Given the description of an element on the screen output the (x, y) to click on. 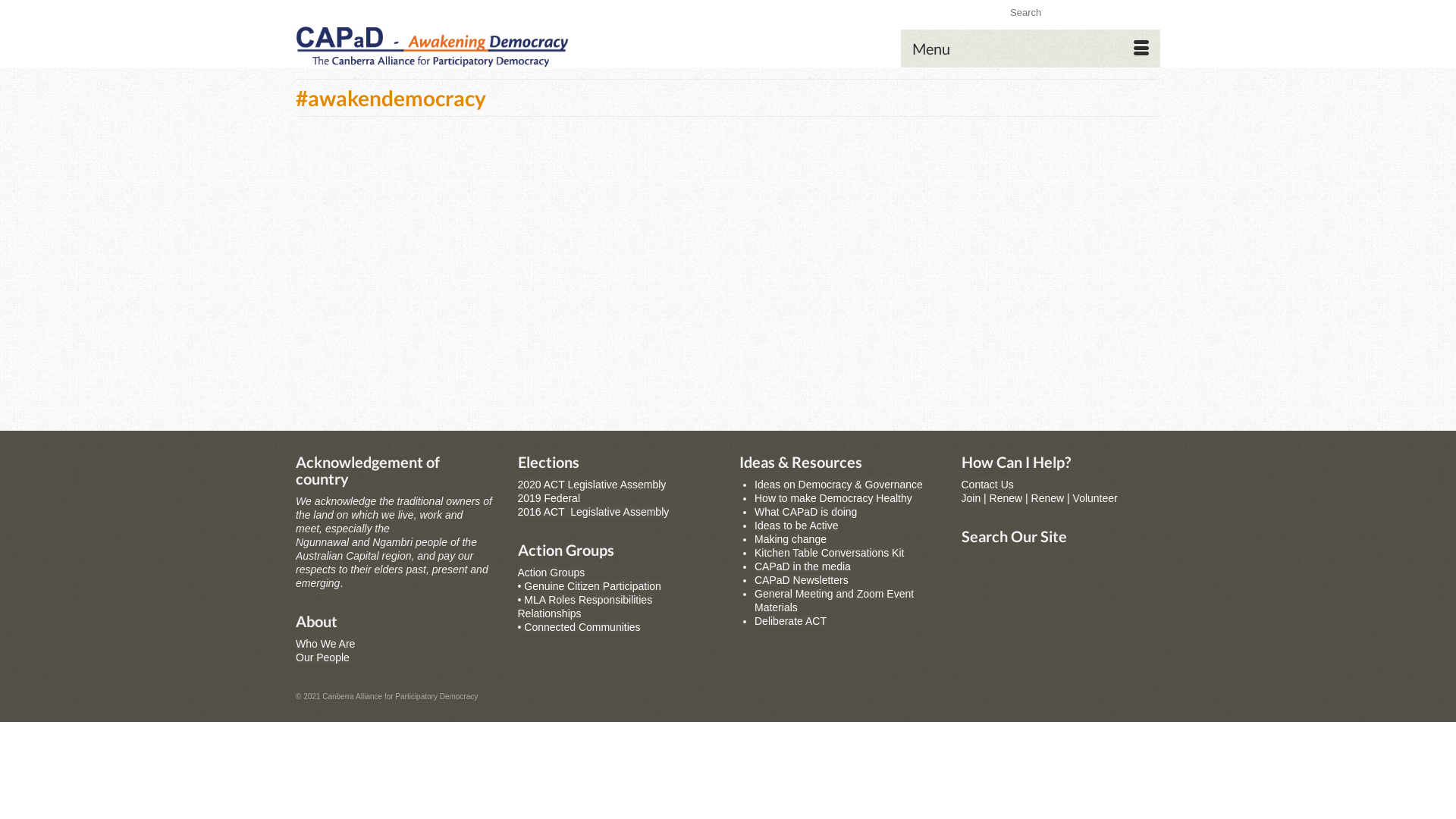
Canberra Alliance for Participatory Democracy Element type: hover (431, 46)
CAPaD in the media Element type: text (802, 566)
Kitchen Table Conversations Kit Element type: text (828, 552)
General Meeting and Zoom Event Materials Element type: text (833, 600)
What CAPaD is doing Element type: text (805, 511)
Action Groups Element type: text (550, 572)
CAPaD Newsletters Element type: text (801, 580)
Menu Element type: text (1030, 48)
Our People Element type: text (322, 657)
Ideas to be Active Element type: text (796, 525)
2016 ACT  Legislative Assembly Element type: text (592, 511)
2020 ACT Legislative Assembly Element type: text (591, 484)
How to make Democracy Healthy Element type: text (833, 498)
2019 Federal Element type: text (548, 498)
Ideas on Democracy & Governance Element type: text (838, 484)
Who We Are Element type: text (324, 643)
Making change Element type: text (790, 539)
Contact Us Element type: text (987, 484)
Deliberate ACT Element type: text (790, 621)
Join | Renew | Renew | Volunteer Element type: text (1039, 498)
